Given the description of an element on the screen output the (x, y) to click on. 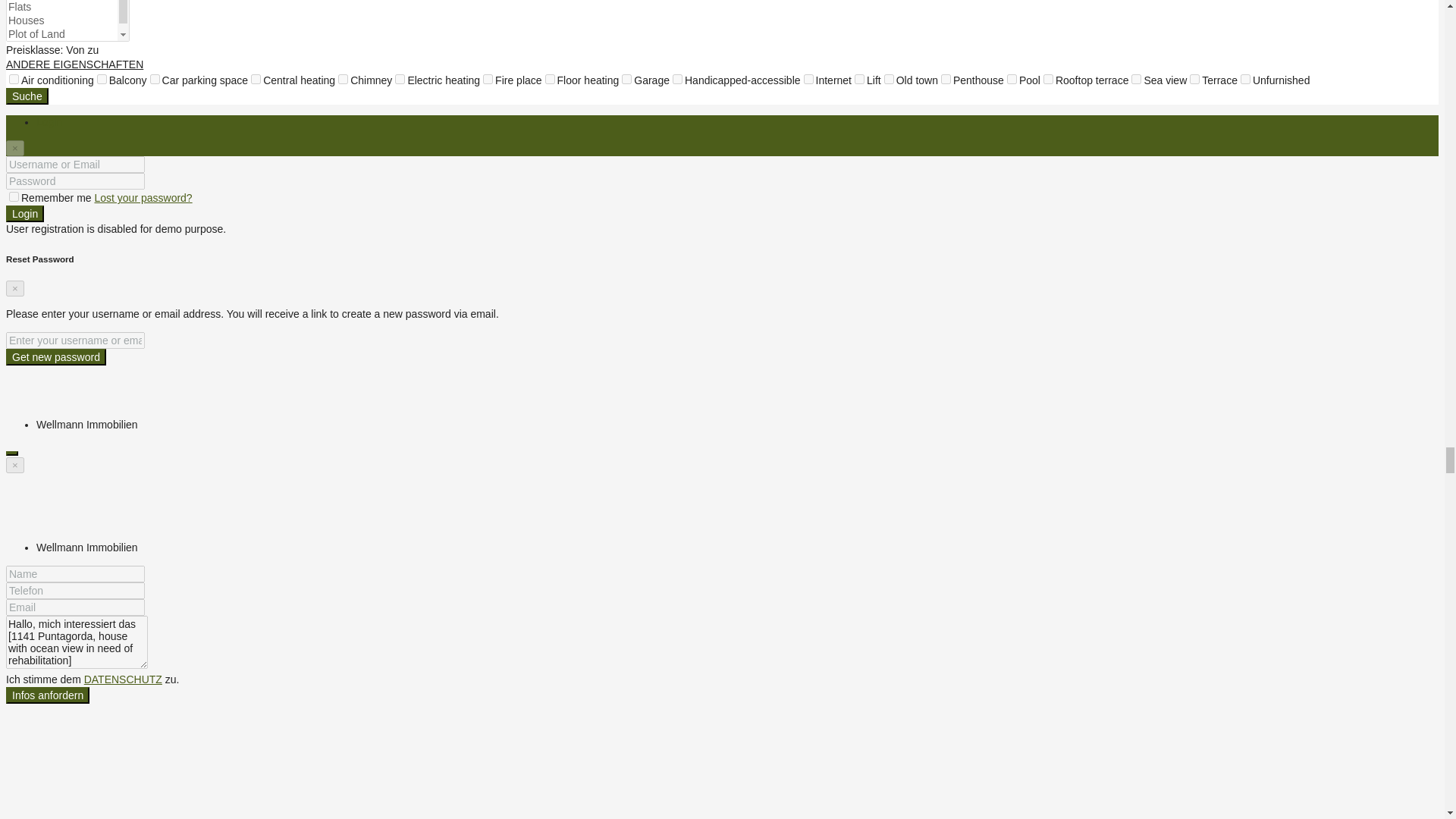
balcony (101, 79)
air-conditioning (13, 79)
internet (808, 79)
central-heating (255, 79)
rooftop-terrace (1047, 79)
penthouse (945, 79)
garage-en (626, 79)
old-town (888, 79)
chimney (342, 79)
floor-heating (549, 79)
lift (859, 79)
fire-place (488, 79)
electric-heating (399, 79)
handicapped-accessible (677, 79)
car-parking-space (154, 79)
